Given the description of an element on the screen output the (x, y) to click on. 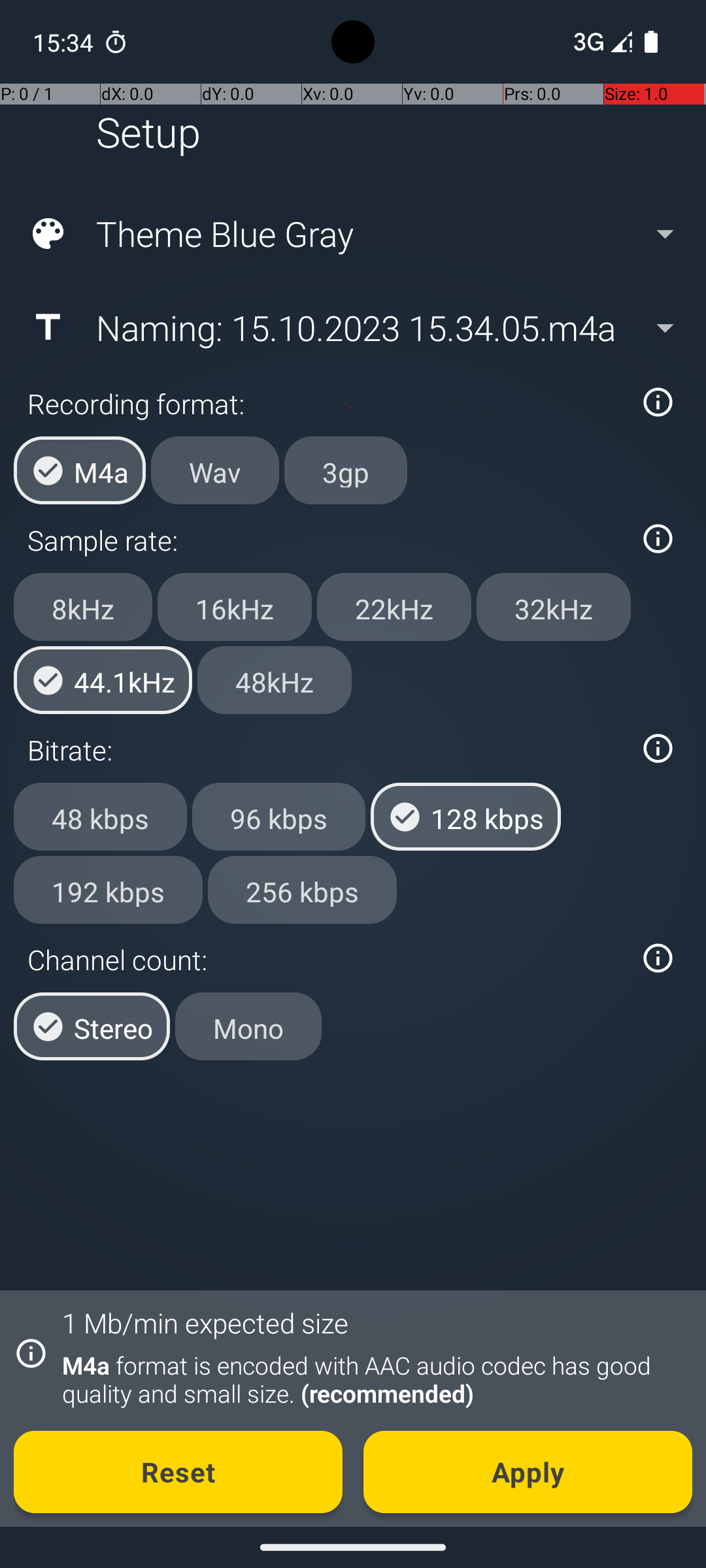
Naming: 15.10.2023 15.34.05.m4a Element type: android.widget.TextView (352, 327)
